Given the description of an element on the screen output the (x, y) to click on. 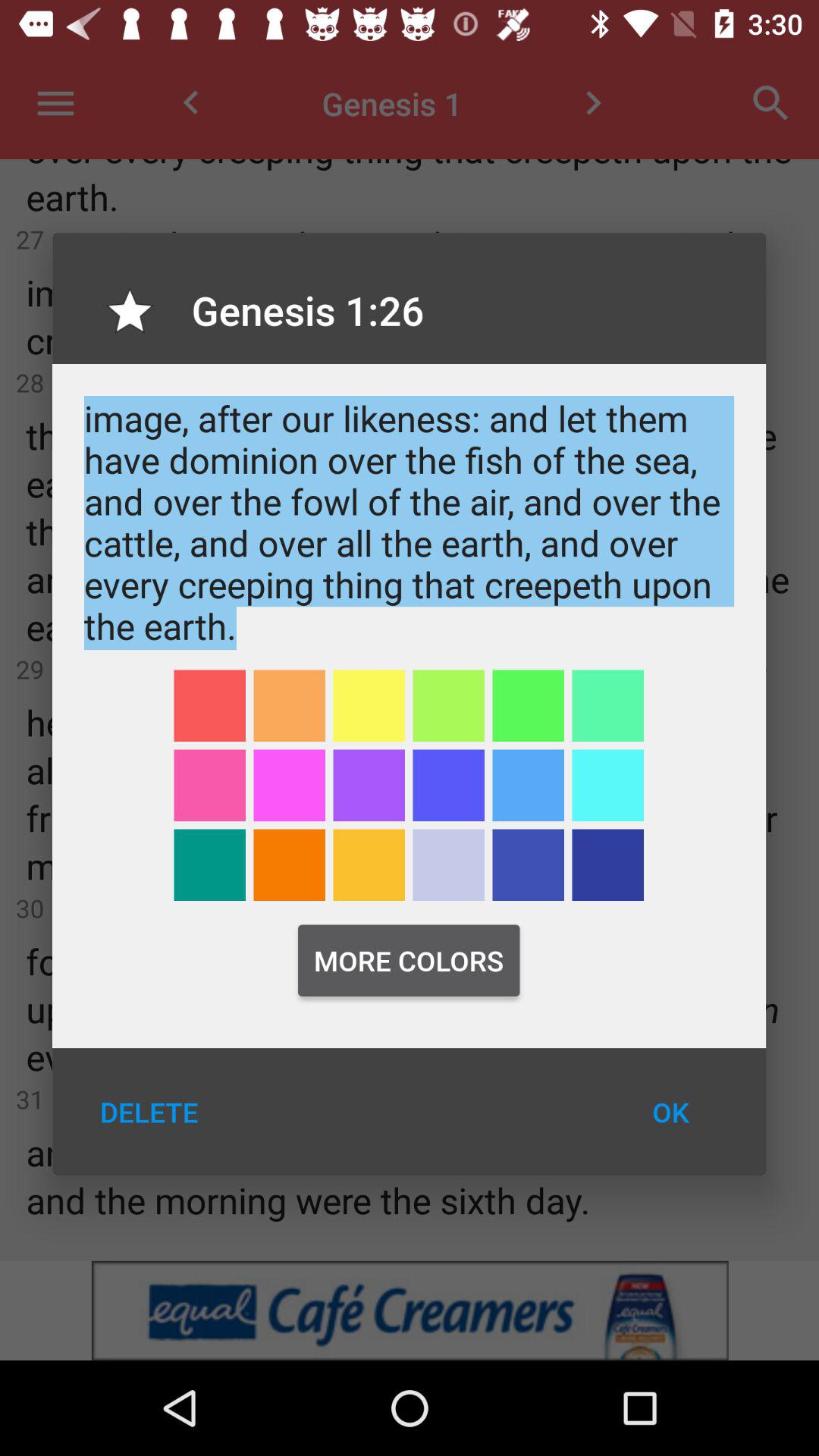
select color (209, 864)
